Given the description of an element on the screen output the (x, y) to click on. 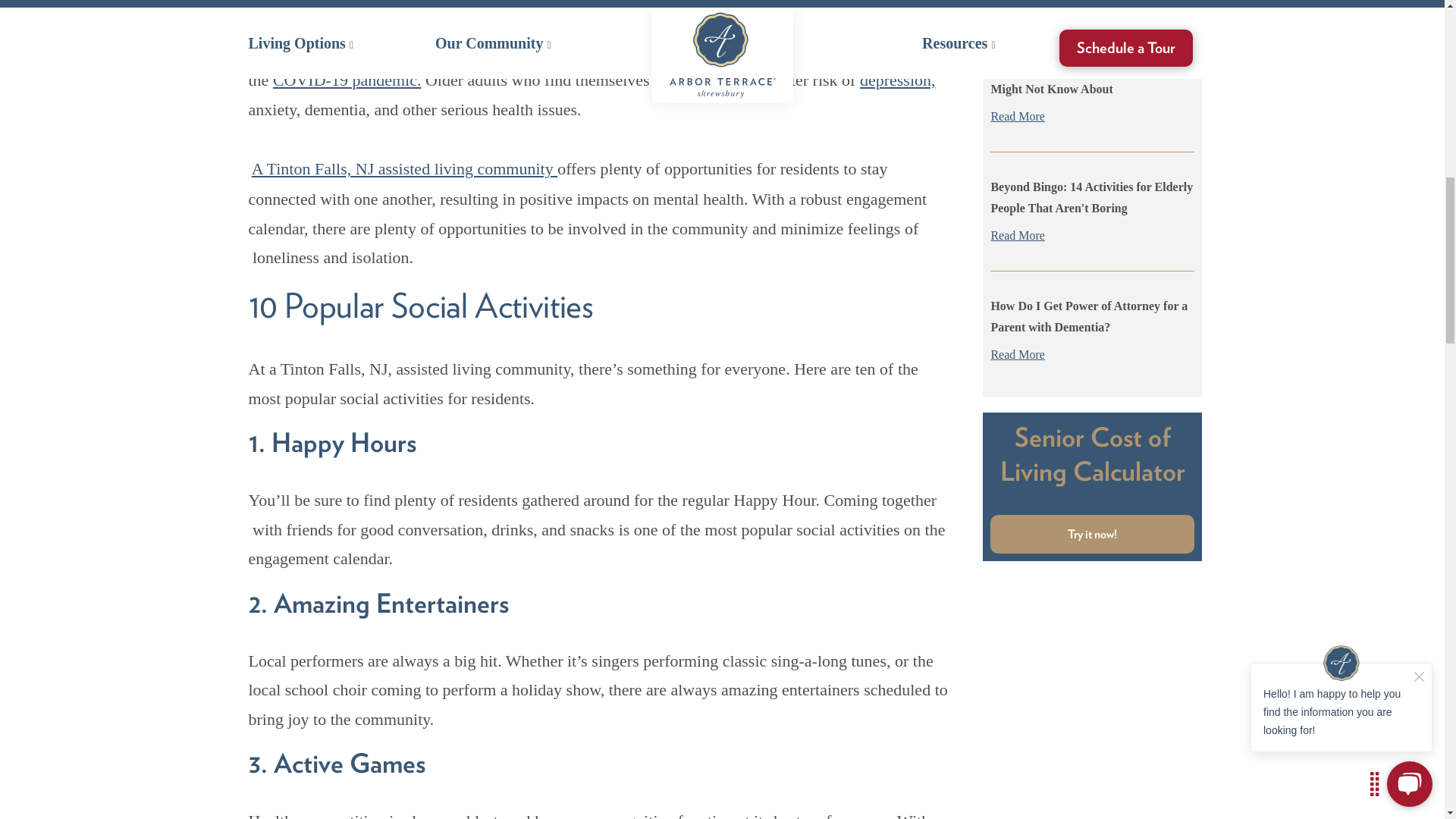
Read More (1091, 4)
10 Tax Deductions for Seniors You Might Not Know About (1078, 78)
Read More (1091, 235)
Read More (1091, 116)
depression, (898, 79)
mental wellbeing. (815, 18)
A Tinton Falls, NJ assisted living community (404, 168)
COVID-19 pandemic. (347, 79)
